Given the description of an element on the screen output the (x, y) to click on. 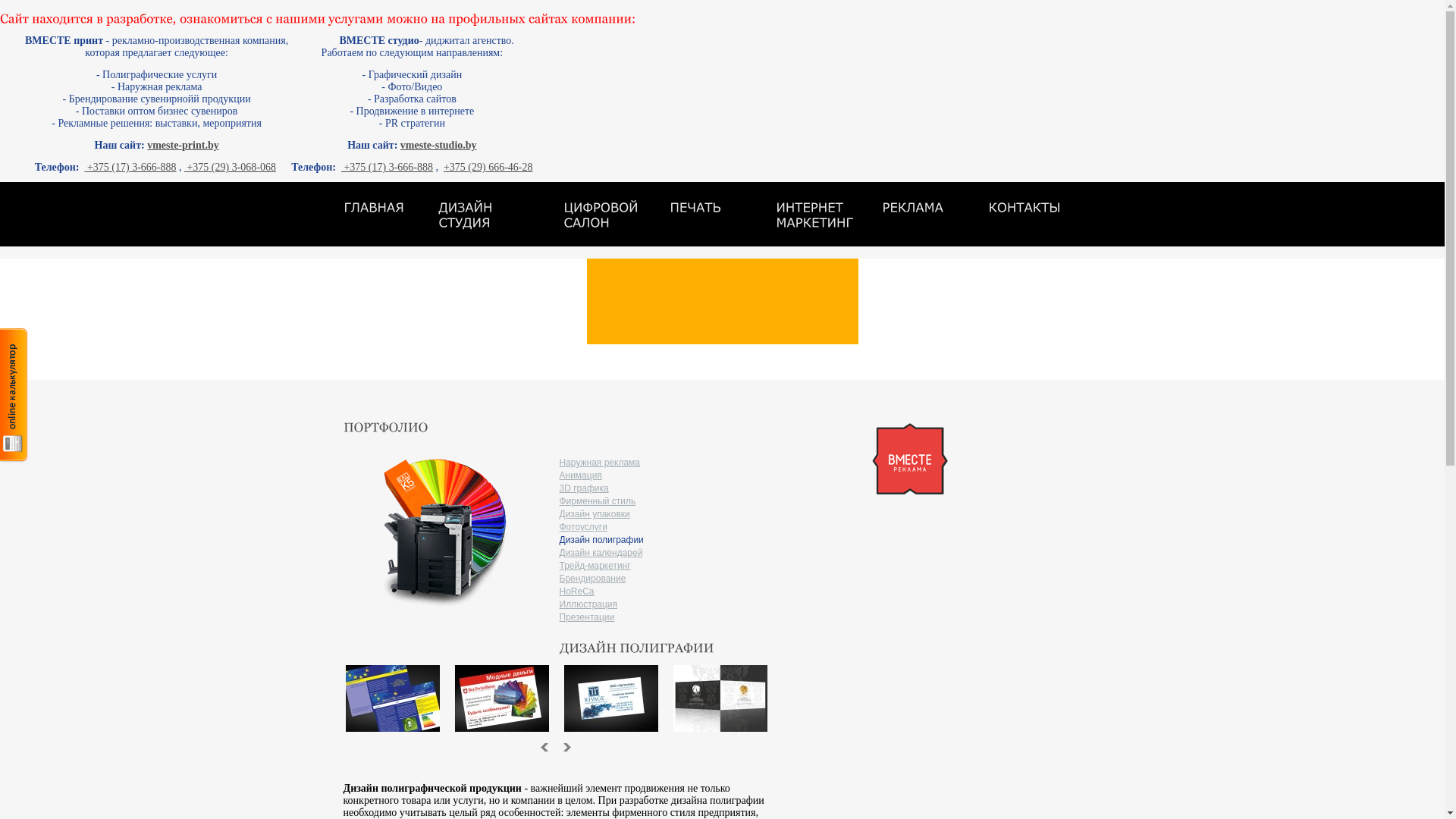
 +375 (29) 3-068-068 Element type: text (230, 166)
 +375 (17) 3-666-888 Element type: text (129, 166)
by Element type: text (213, 144)
vmeste-studio.by Element type: text (438, 144)
  Element type: text (544, 746)
  Element type: text (566, 746)
vmeste-print. Element type: text (177, 144)
HoReCa Element type: text (576, 591)
+375 (29) 666-46-28 Element type: text (488, 166)
 +375 (17) 3-666-888 Element type: text (387, 166)
